Given the description of an element on the screen output the (x, y) to click on. 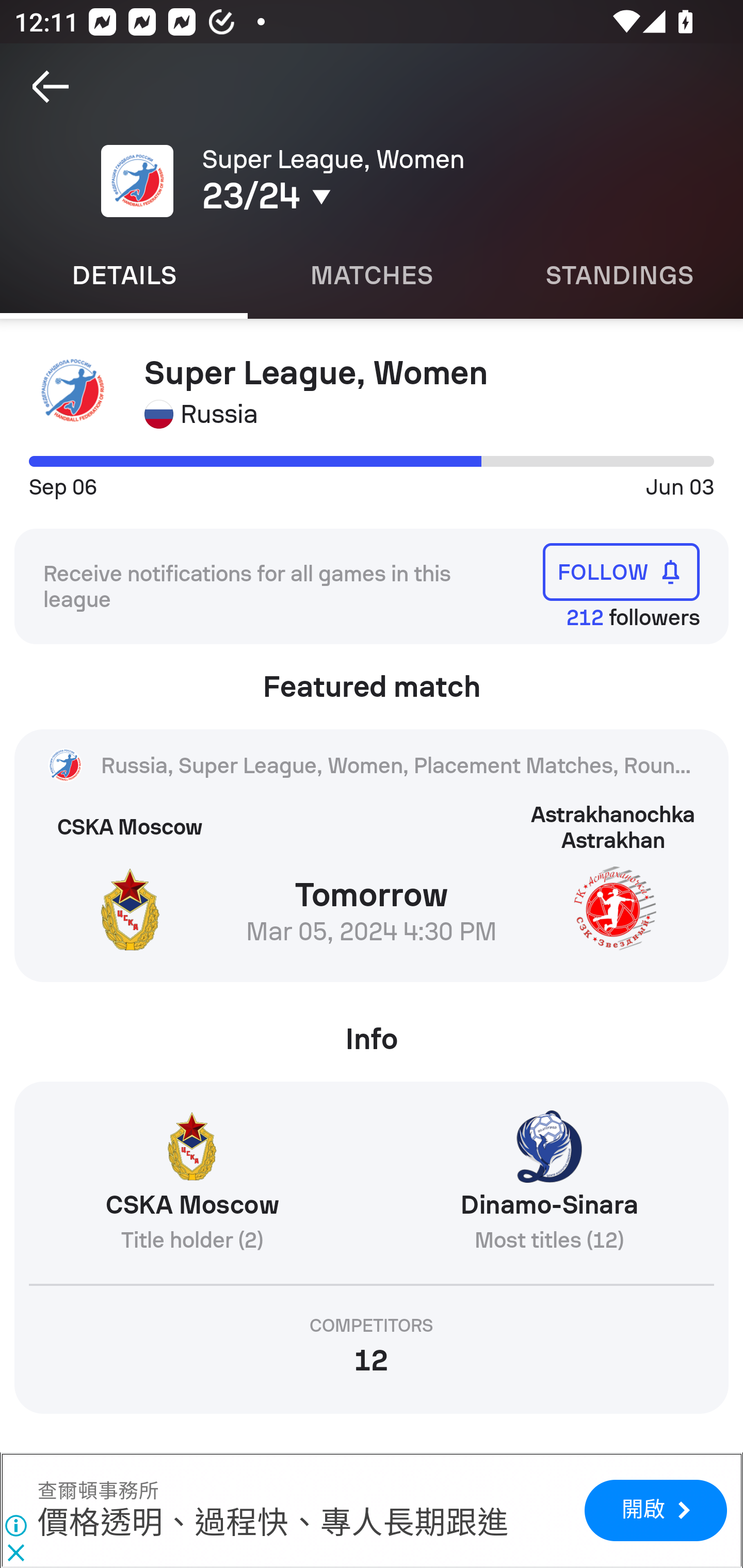
Navigate up (50, 86)
23/24 (350, 195)
Matches MATCHES (371, 275)
Standings STANDINGS (619, 275)
FOLLOW (621, 571)
CSKA Moscow Title holder (2) (191, 1190)
Dinamo-Sinara Most titles (12) (548, 1190)
查爾頓事務所 (97, 1491)
開啟 (655, 1509)
價格透明、過程快、專人長期跟進 (272, 1522)
